Given the description of an element on the screen output the (x, y) to click on. 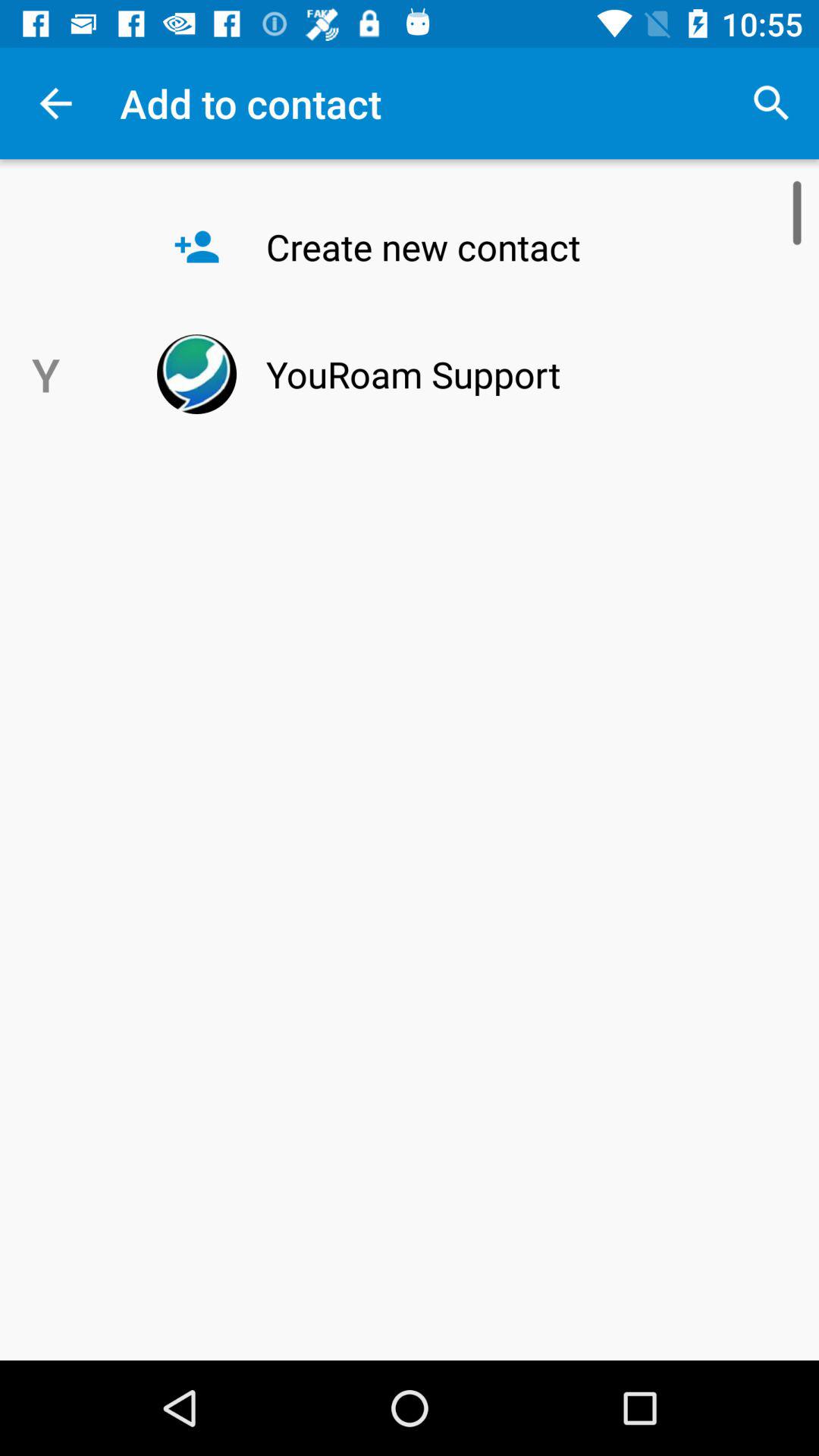
click app to the right of the add to contact app (771, 103)
